Given the description of an element on the screen output the (x, y) to click on. 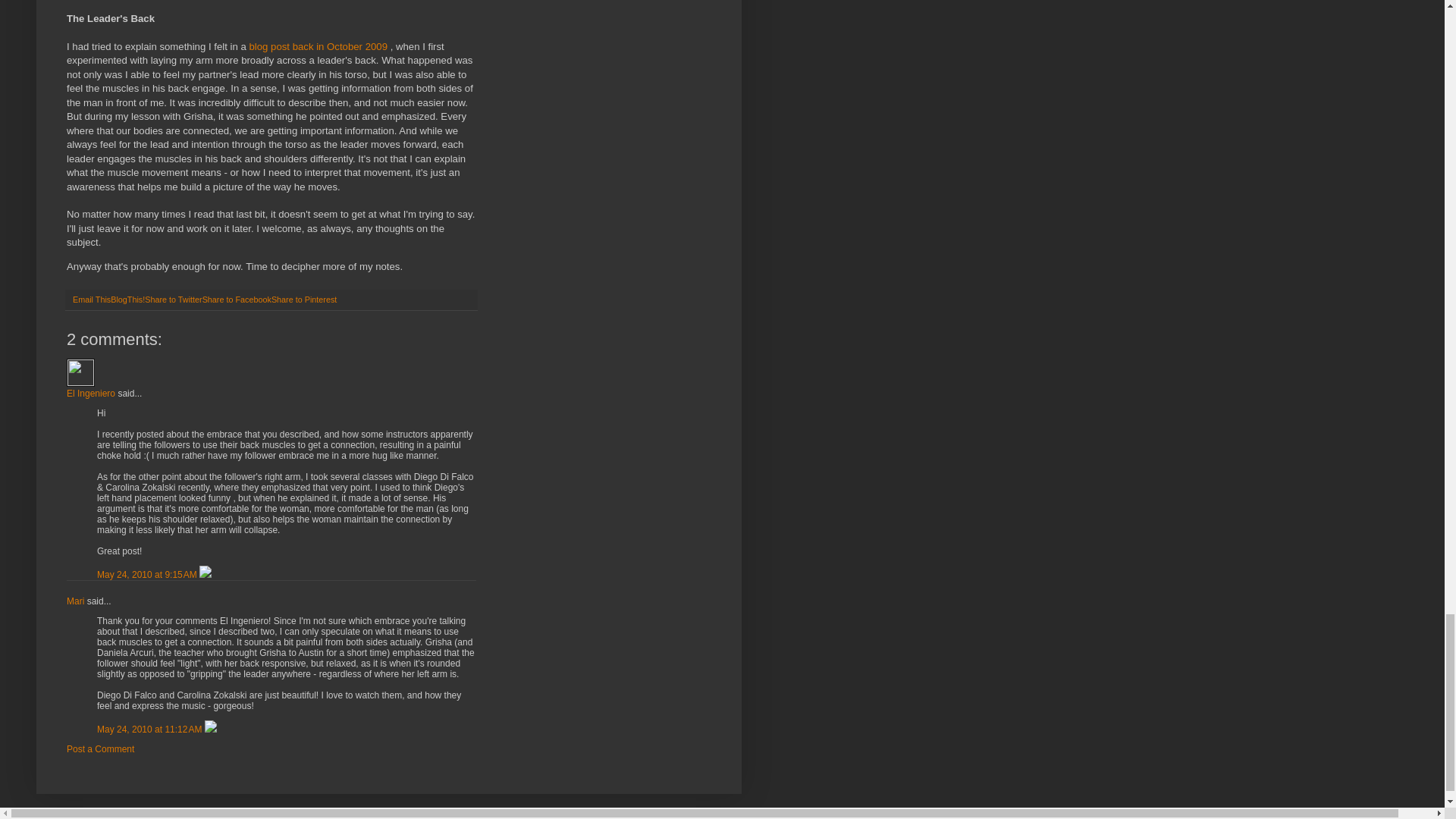
Share to Pinterest (303, 298)
BlogThis! (127, 298)
Email This (91, 298)
Post a Comment (99, 748)
Delete Comment (205, 574)
El Ingeniero (90, 393)
comment permalink (148, 574)
Share to Facebook (236, 298)
Mari (75, 601)
Email This (91, 298)
blog post back in October 2009 (319, 46)
Share to Twitter (173, 298)
El Ingeniero (80, 372)
